Given the description of an element on the screen output the (x, y) to click on. 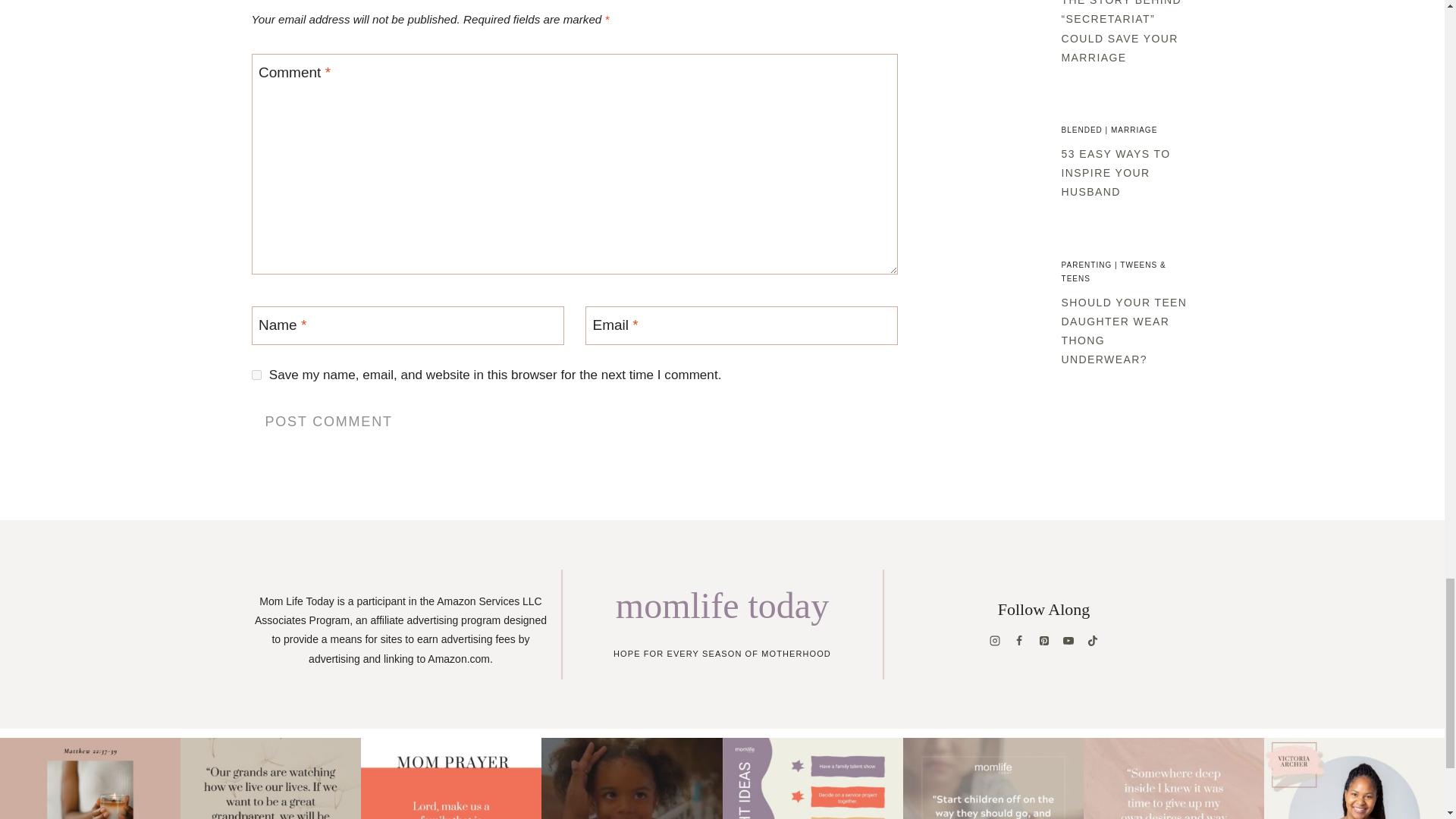
yes (256, 375)
Post Comment (328, 420)
